Given the description of an element on the screen output the (x, y) to click on. 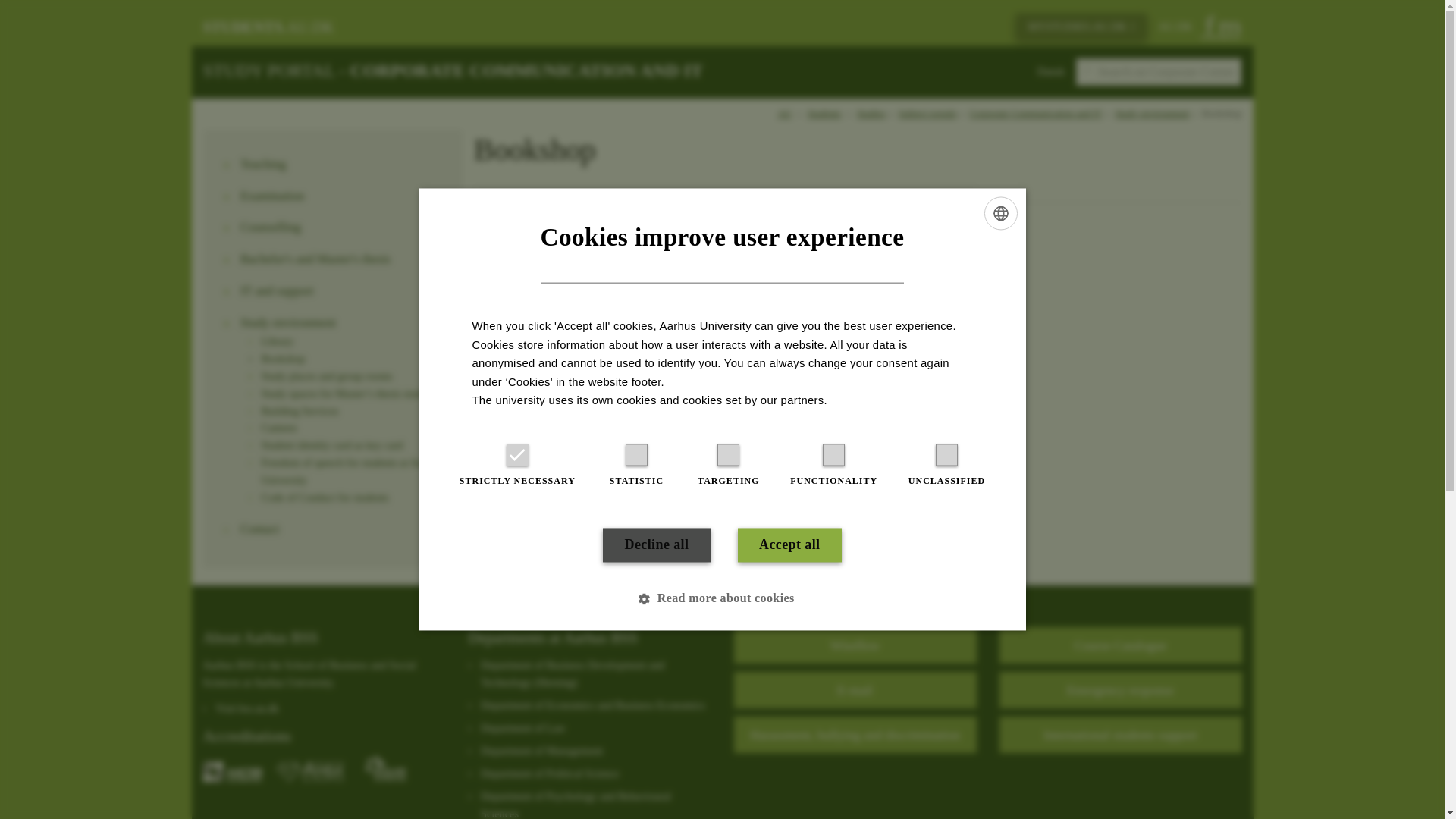
AU.DK (1175, 26)
STUDENTS.AU.DK (268, 27)
Dansk (1050, 70)
MYSTUDIES.AU.DK (1081, 26)
Type search criteria (1158, 71)
